Given the description of an element on the screen output the (x, y) to click on. 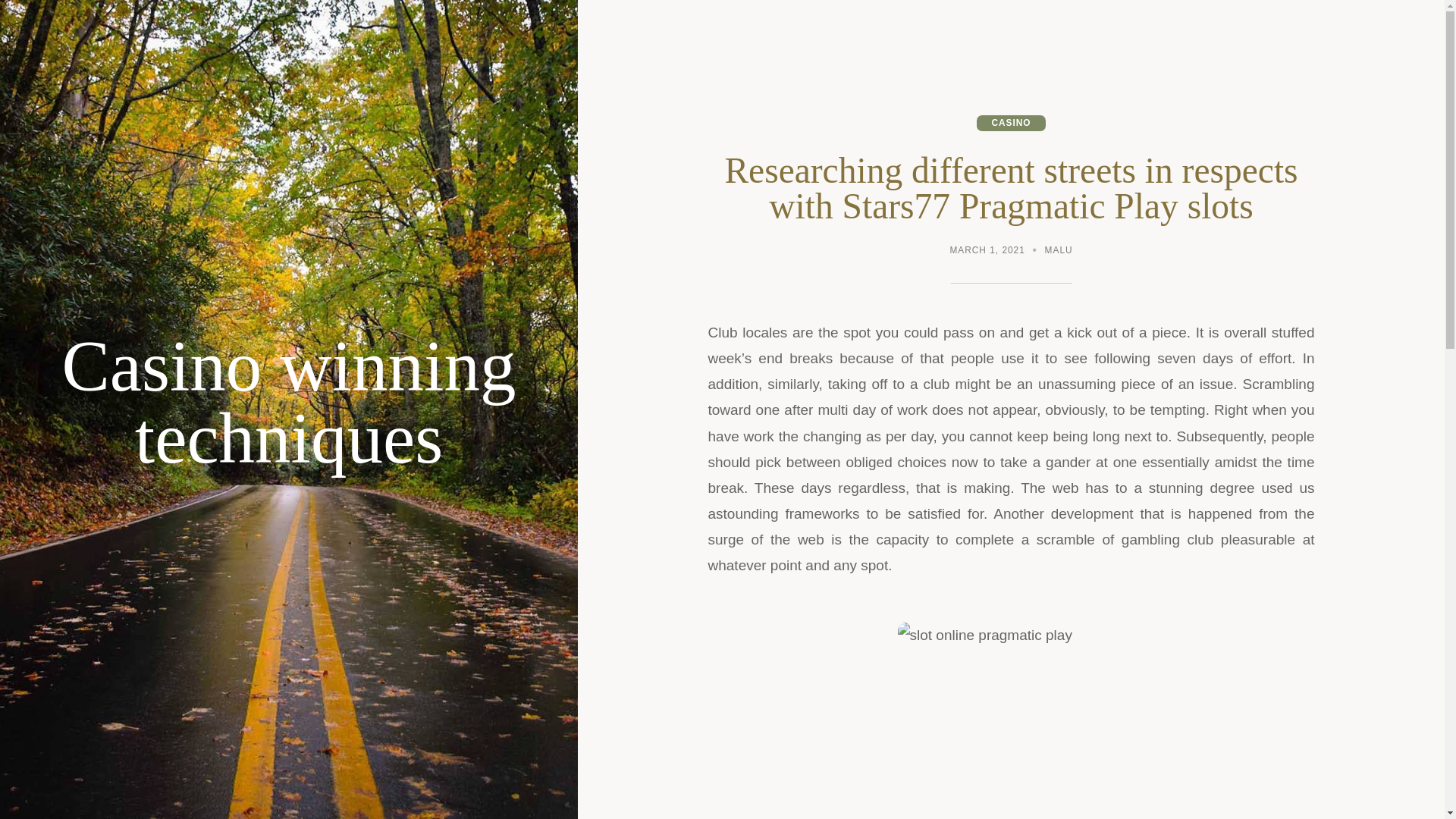
MARCH 1, 2021 (987, 251)
Casino winning techniques (288, 402)
CASINO (1010, 123)
MALU (1059, 251)
